Given the description of an element on the screen output the (x, y) to click on. 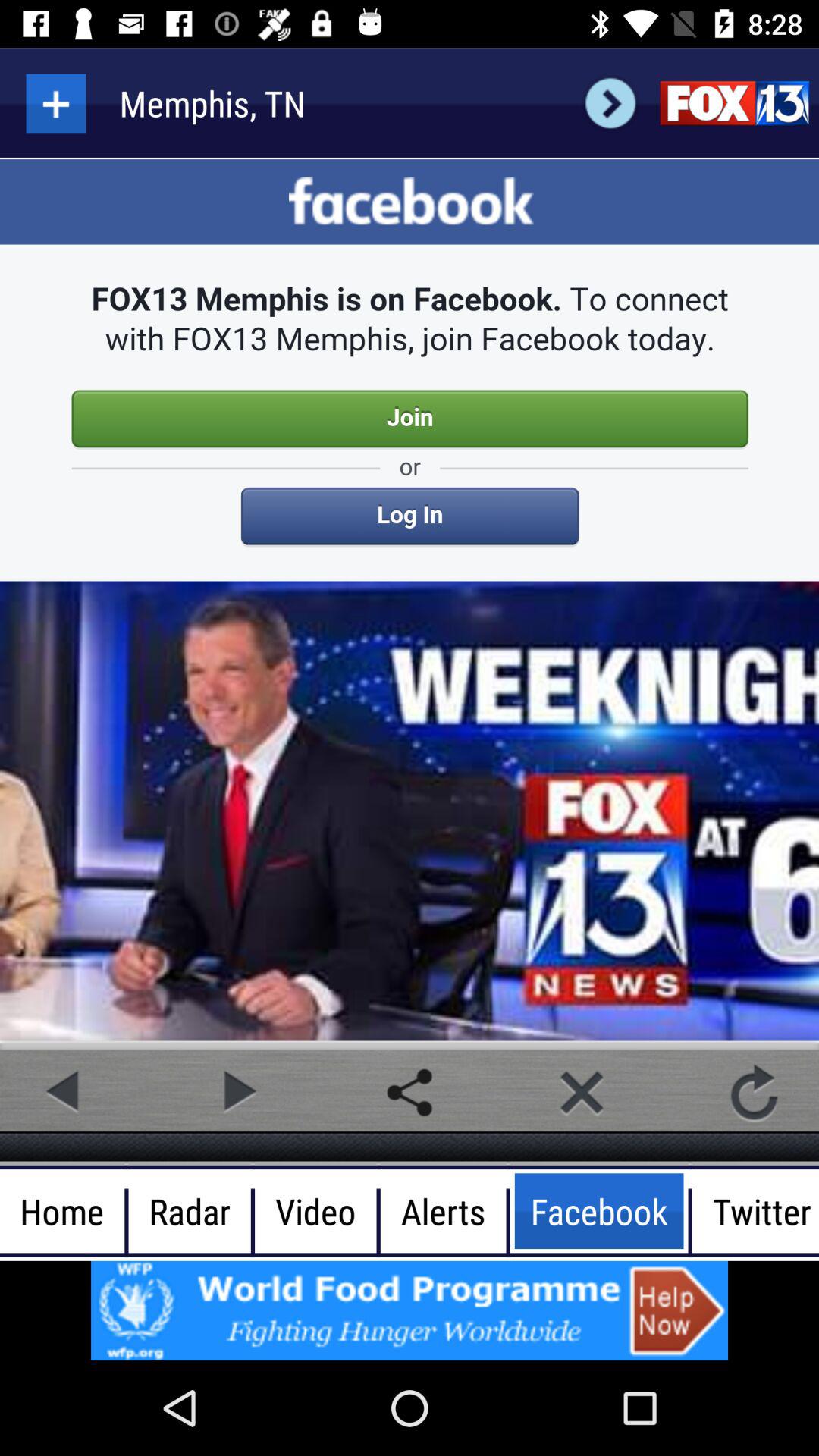
back ward (610, 103)
